Given the description of an element on the screen output the (x, y) to click on. 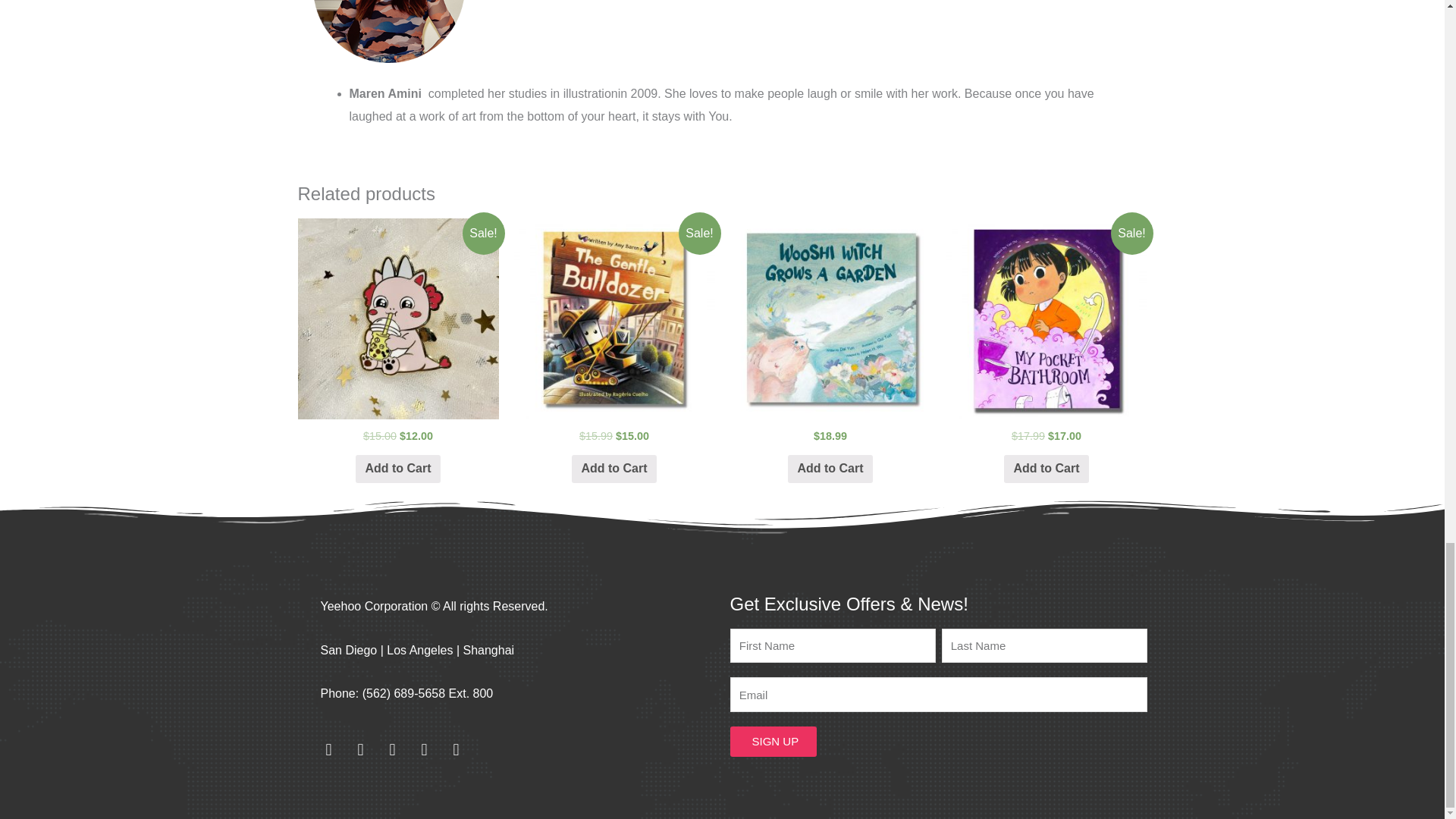
Add to Cart (397, 469)
Add to Cart (614, 469)
